Given the description of an element on the screen output the (x, y) to click on. 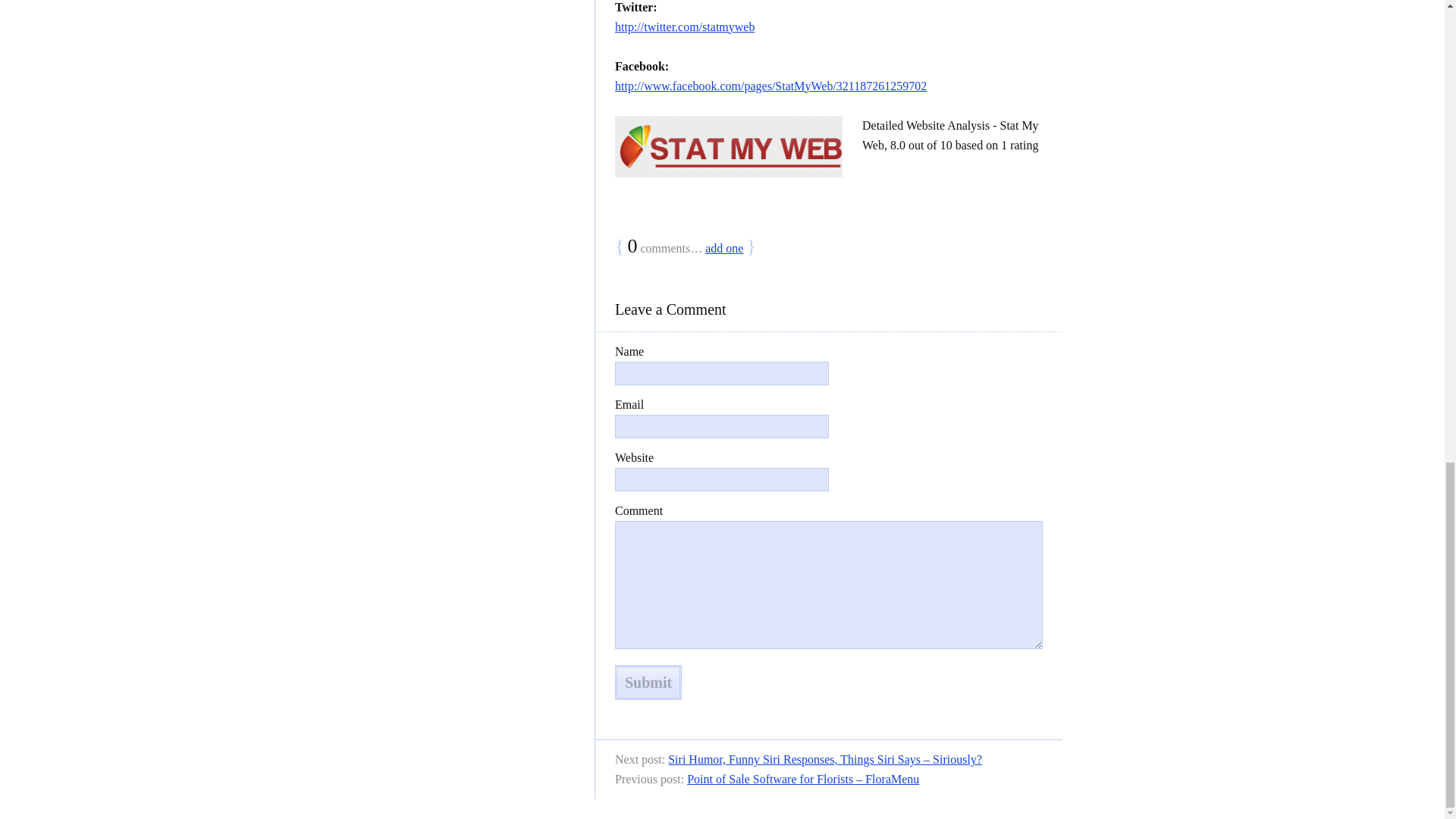
Submit (647, 682)
Submit (647, 682)
add one (723, 246)
